Given the description of an element on the screen output the (x, y) to click on. 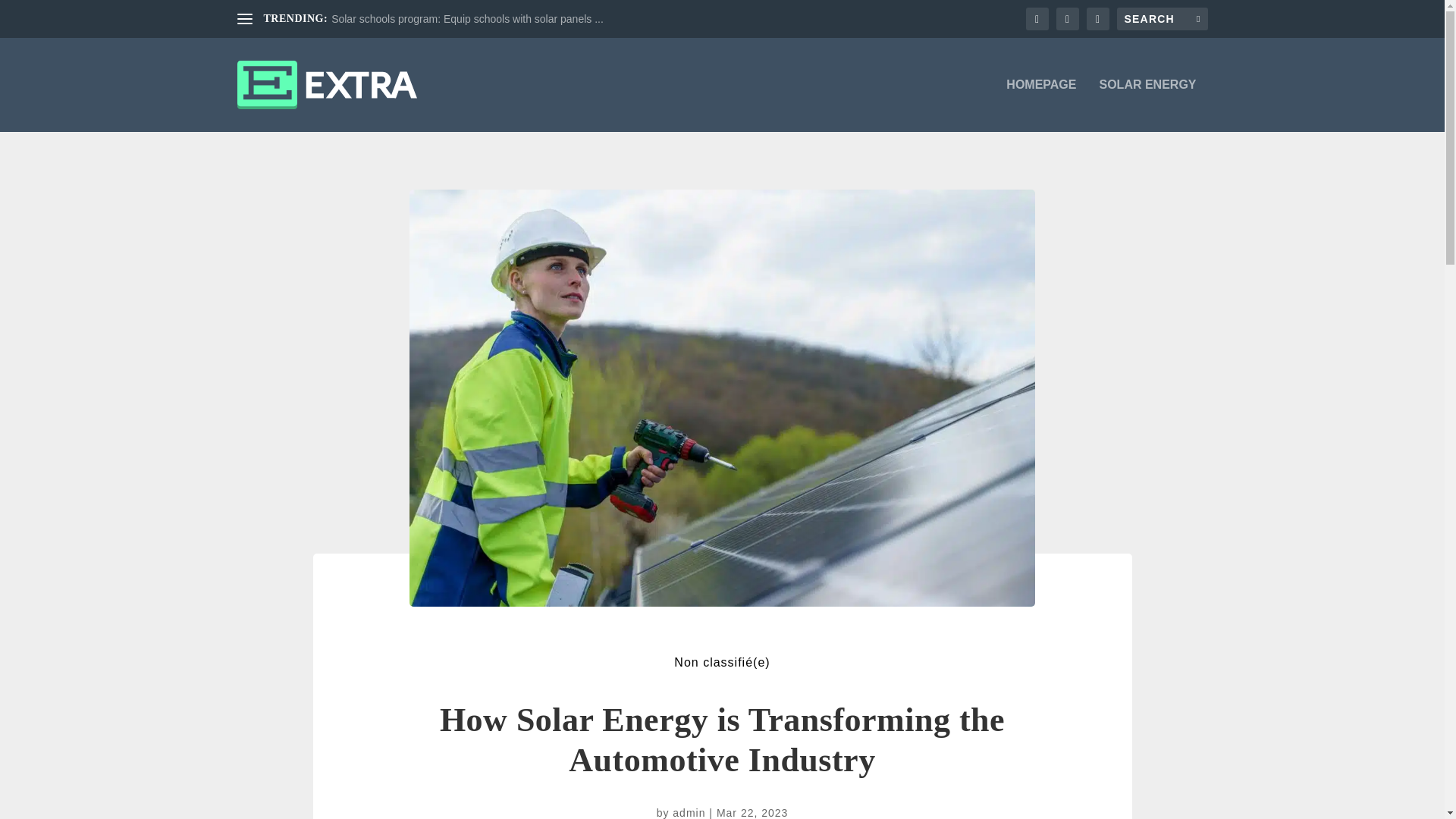
Search for: (1161, 18)
Posts by admin (688, 812)
Search (31, 13)
admin (688, 812)
SOLAR ENERGY (1147, 104)
Solar schools program: Equip schools with solar panels ... (467, 19)
HOMEPAGE (1040, 104)
